Given the description of an element on the screen output the (x, y) to click on. 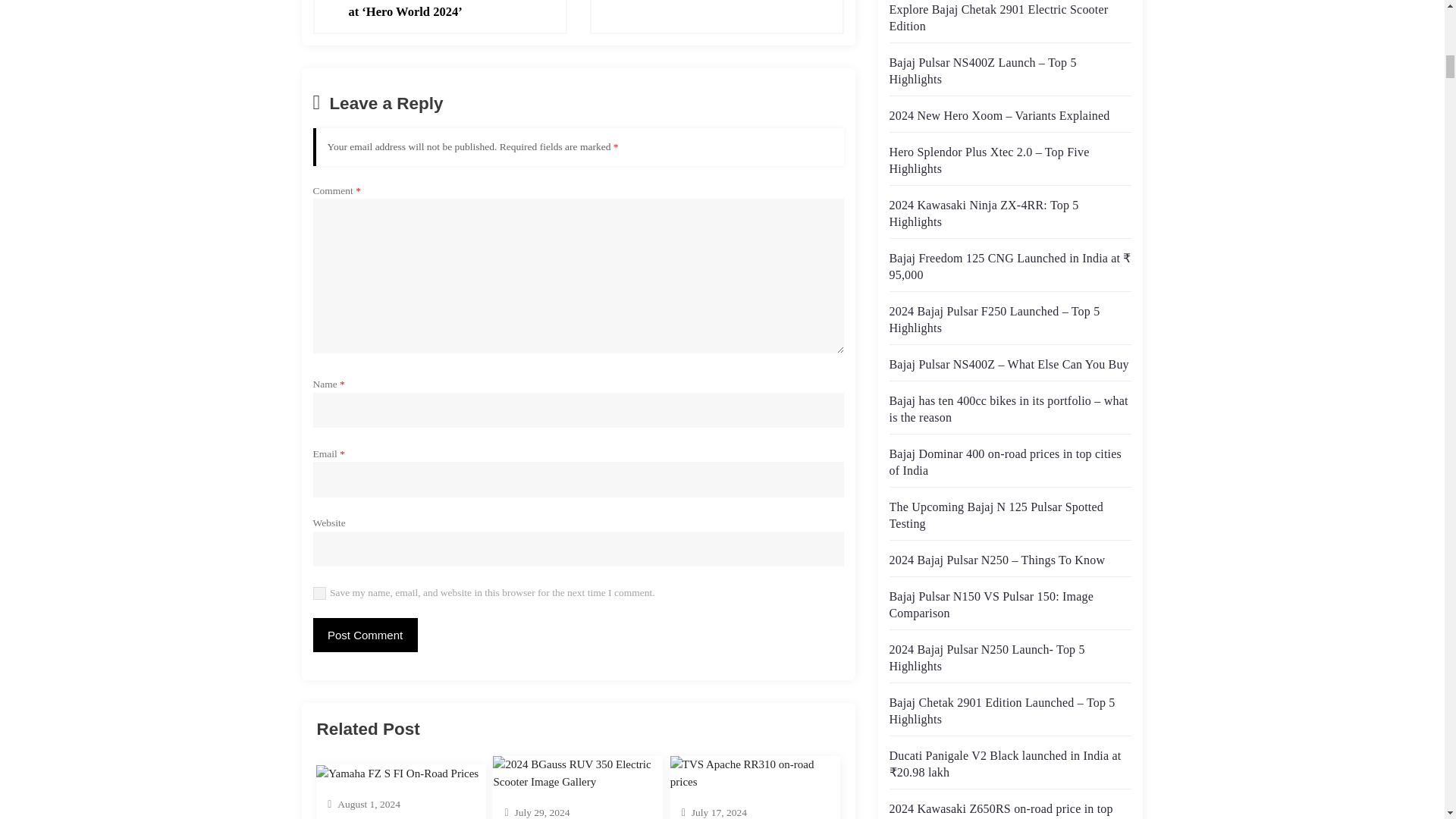
Post Comment (364, 634)
Hero Xtreme 125R Launched in India (705, 1)
Post Comment (364, 634)
